Given the description of an element on the screen output the (x, y) to click on. 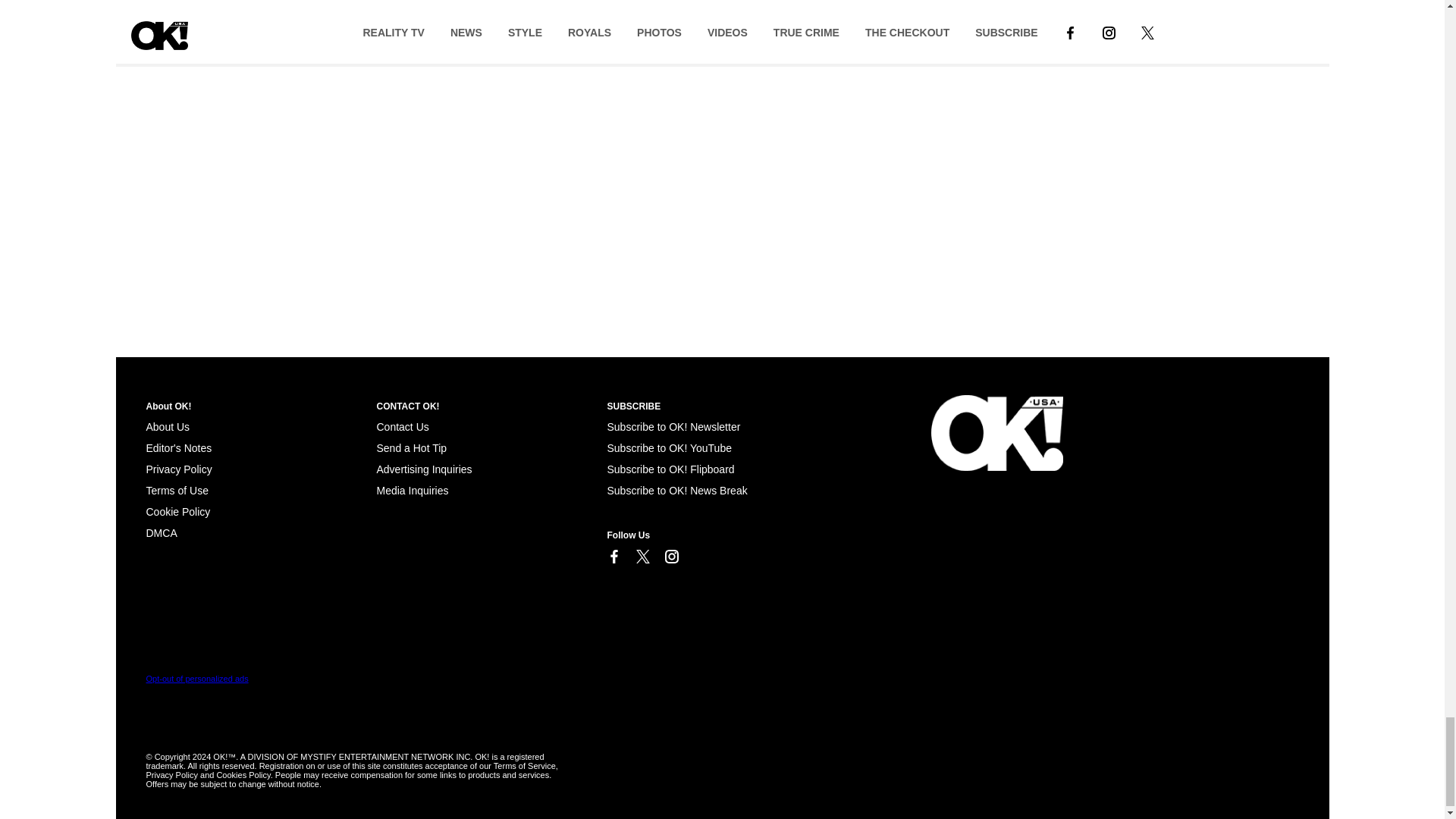
Advertising Inquiries (423, 469)
Cookie Policy (160, 532)
Media Inquiries (411, 490)
Contact Us (401, 426)
Link to Facebook (613, 556)
Link to Instagram (670, 556)
Cookie Policy (177, 511)
Send a Hot Tip (410, 448)
Editor's Notes (178, 448)
Terms of Use (176, 490)
Link to X (641, 556)
About Us (167, 426)
Privacy Policy (178, 469)
